Given the description of an element on the screen output the (x, y) to click on. 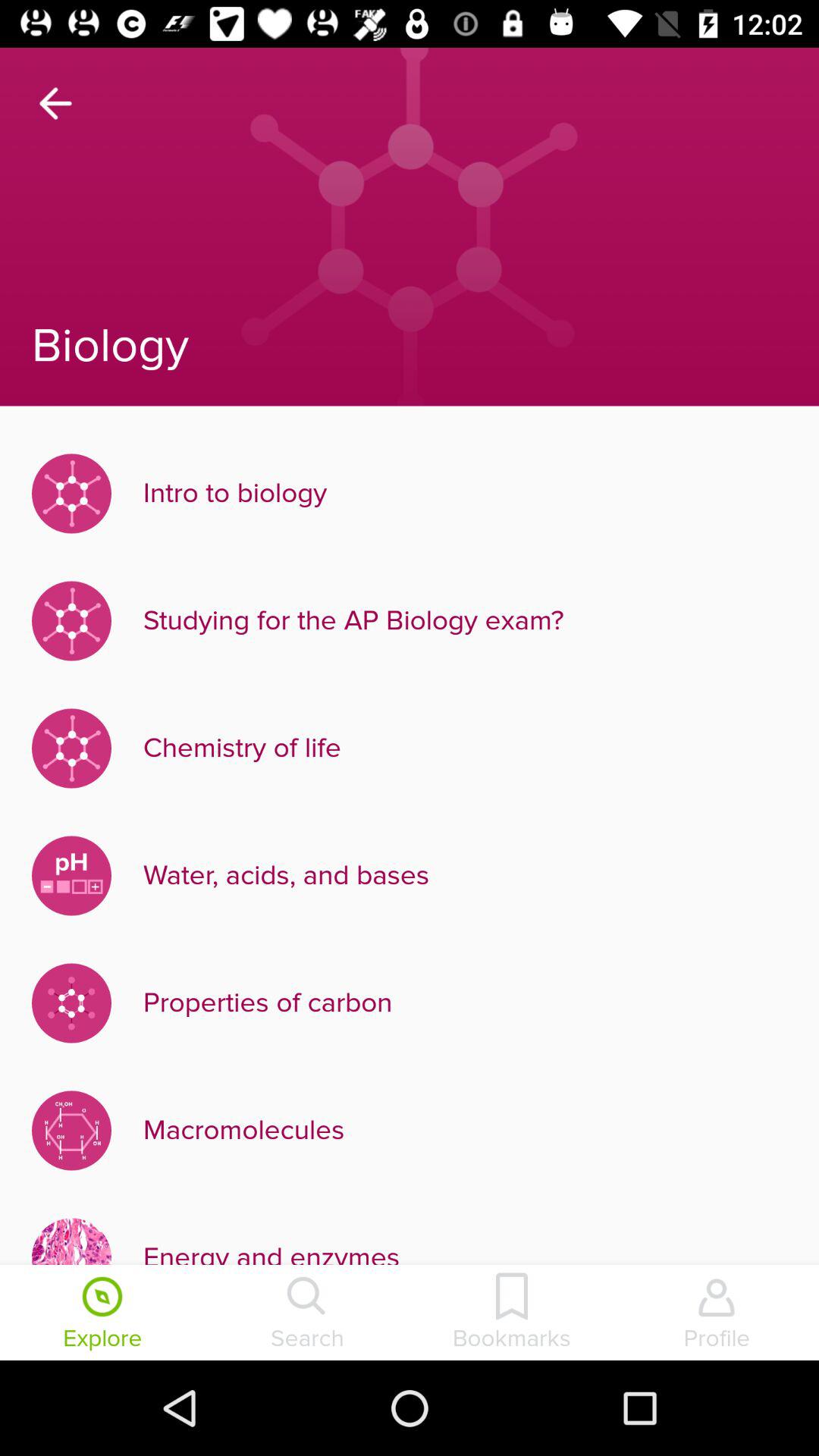
press the item to the right of bookmarks item (716, 1314)
